Given the description of an element on the screen output the (x, y) to click on. 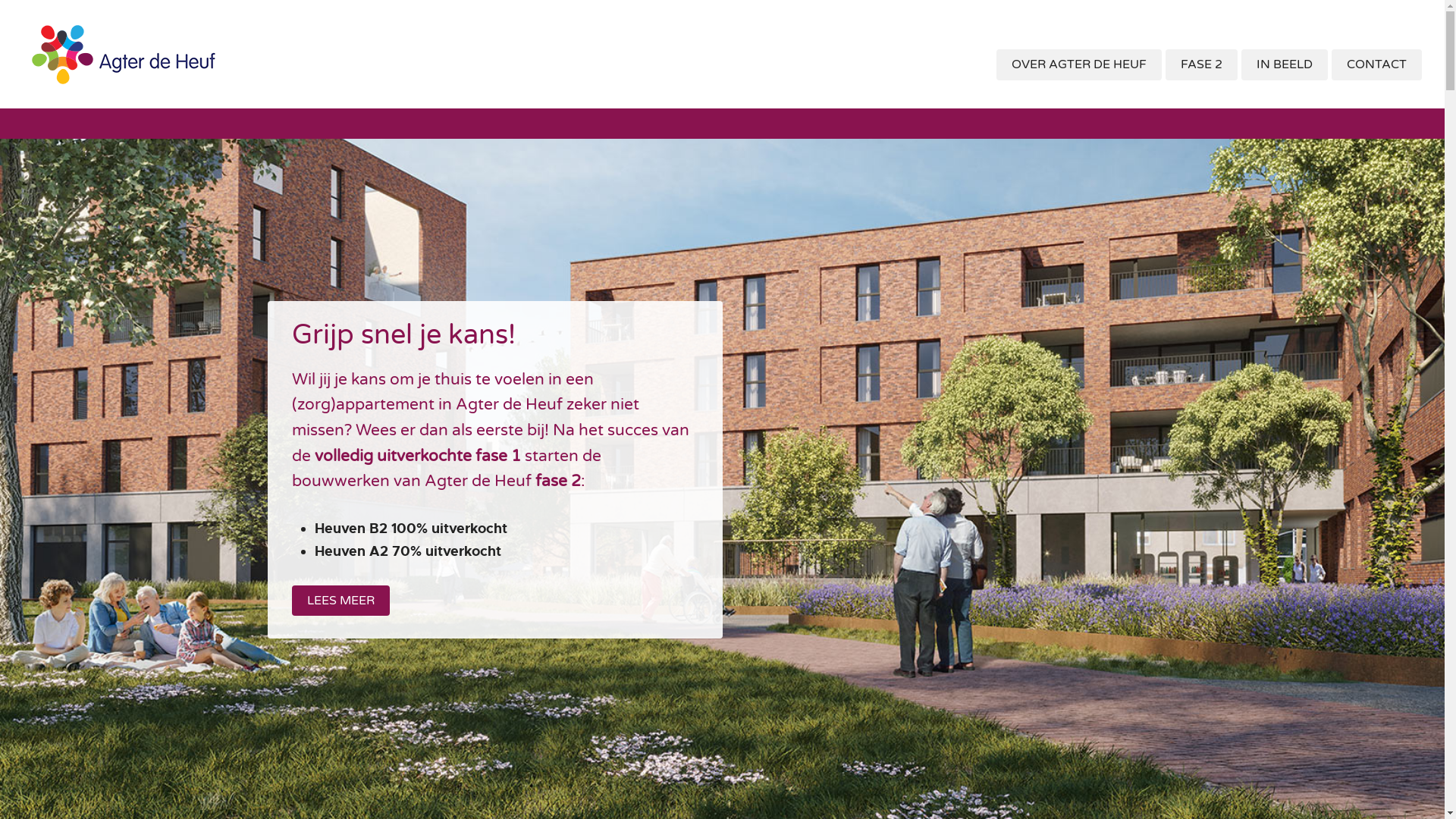
OVER AGTER DE HEUF Element type: text (1078, 64)
CONTACT Element type: text (1376, 64)
FASE 2 Element type: text (1201, 64)
LEES MEER Element type: text (340, 600)
IN BEELD Element type: text (1284, 64)
